Given the description of an element on the screen output the (x, y) to click on. 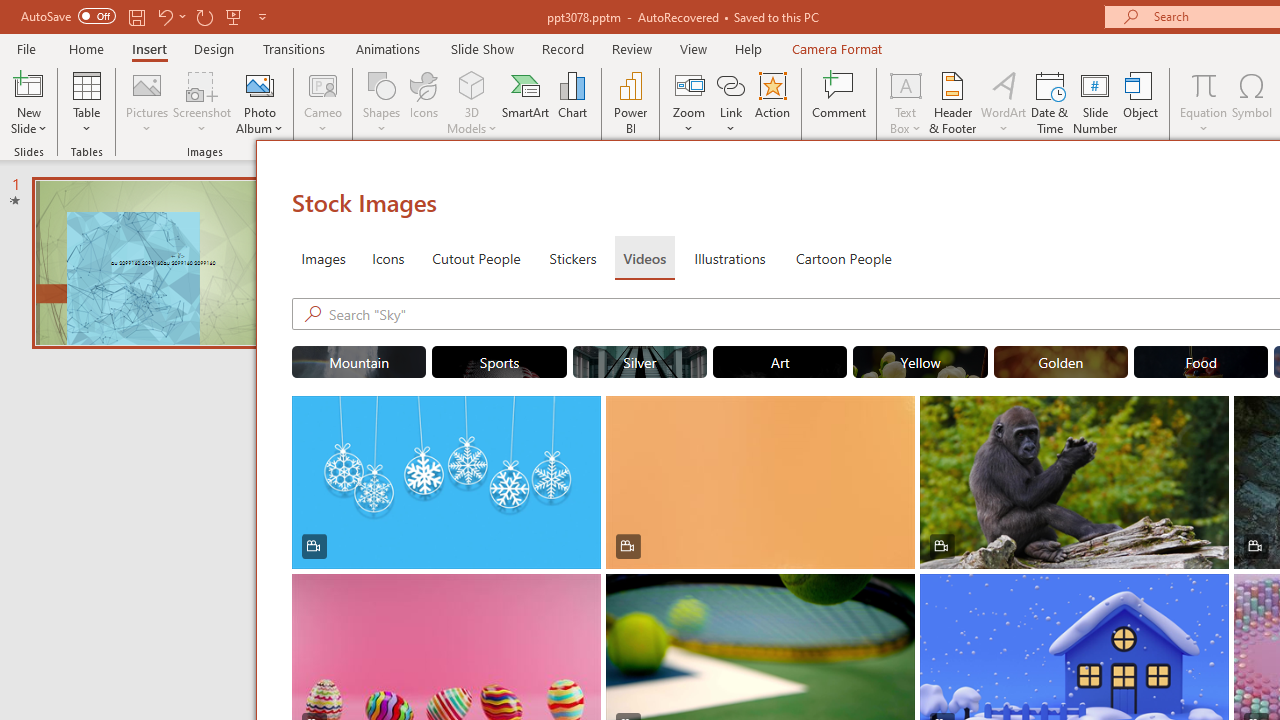
Link (731, 84)
Illustrations (729, 258)
Icons (388, 258)
"Art" Stock Videos. (779, 362)
Chart... (572, 102)
Equation (1203, 84)
Cartoon People (843, 258)
